Given the description of an element on the screen output the (x, y) to click on. 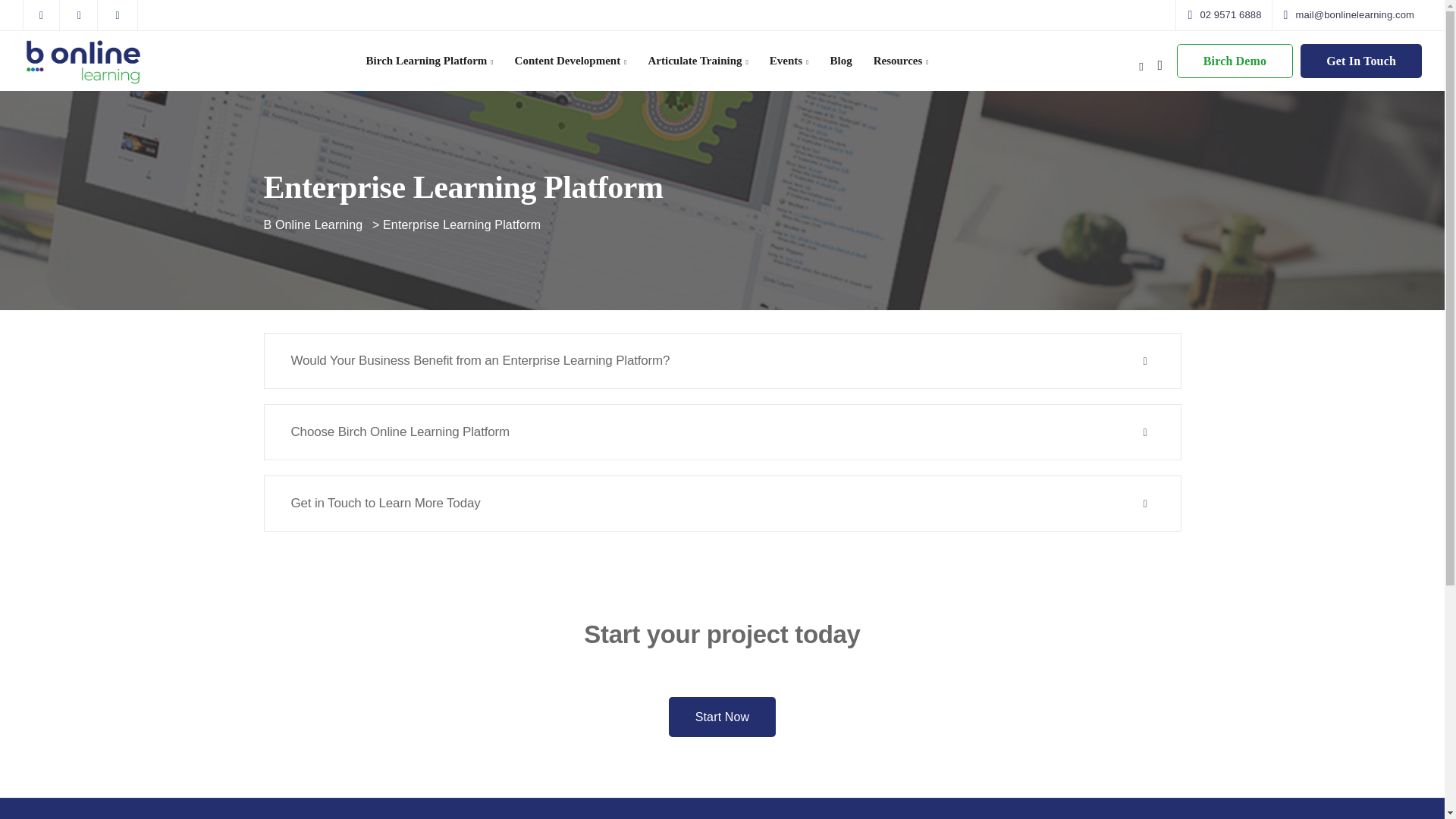
Articulate Training (697, 60)
Content Development (570, 60)
Go to B Online Learning. (312, 224)
Birch Demo (1235, 60)
Birch Learning Platform (429, 60)
02 9571 6888 (1227, 15)
Resources (901, 60)
Events (788, 60)
